Given the description of an element on the screen output the (x, y) to click on. 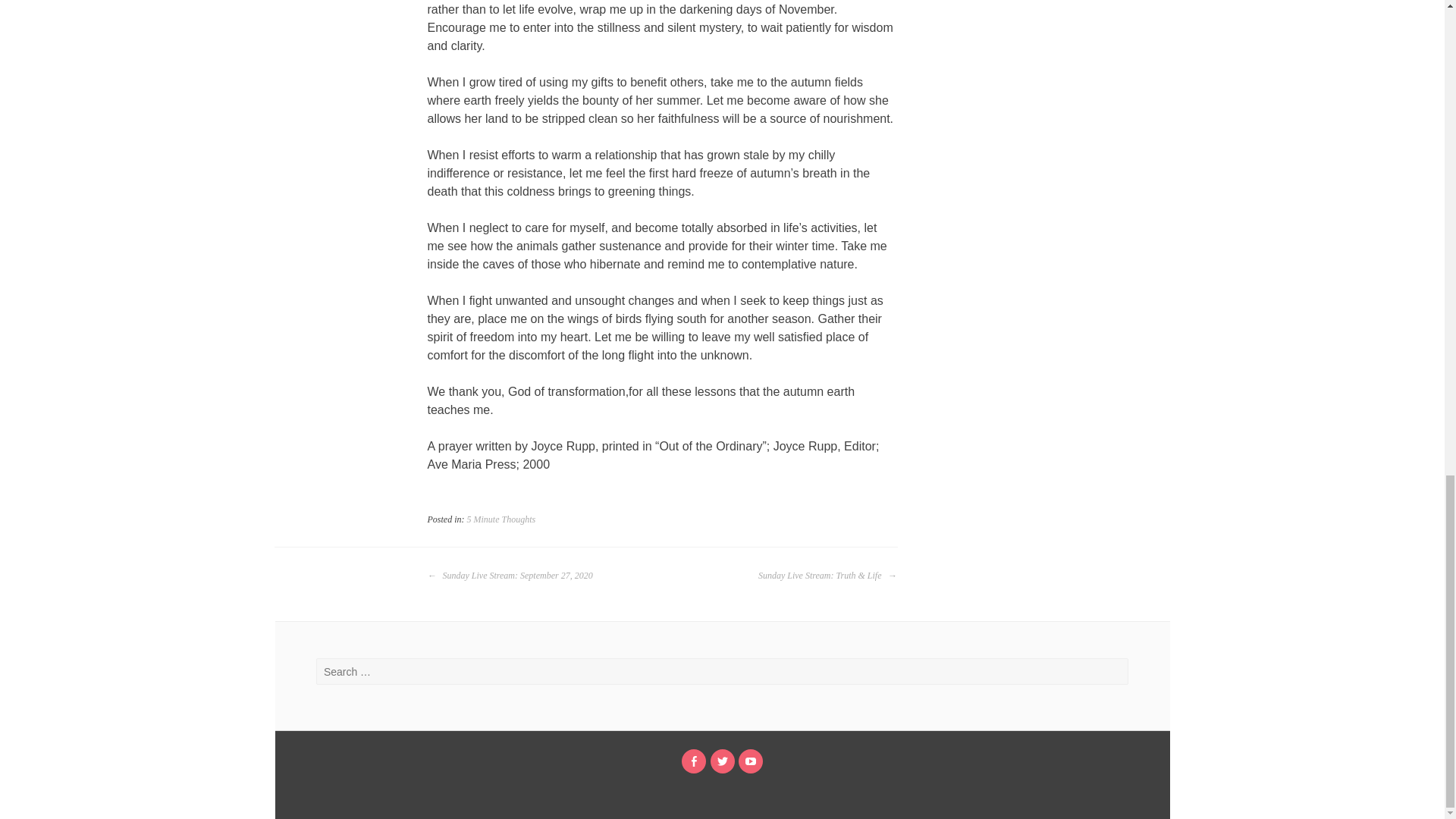
 Sunday Live Stream: September 27, 2020 (510, 575)
TWITTER (721, 761)
5 Minute Thoughts (501, 519)
FACEBOOK (693, 761)
